Given the description of an element on the screen output the (x, y) to click on. 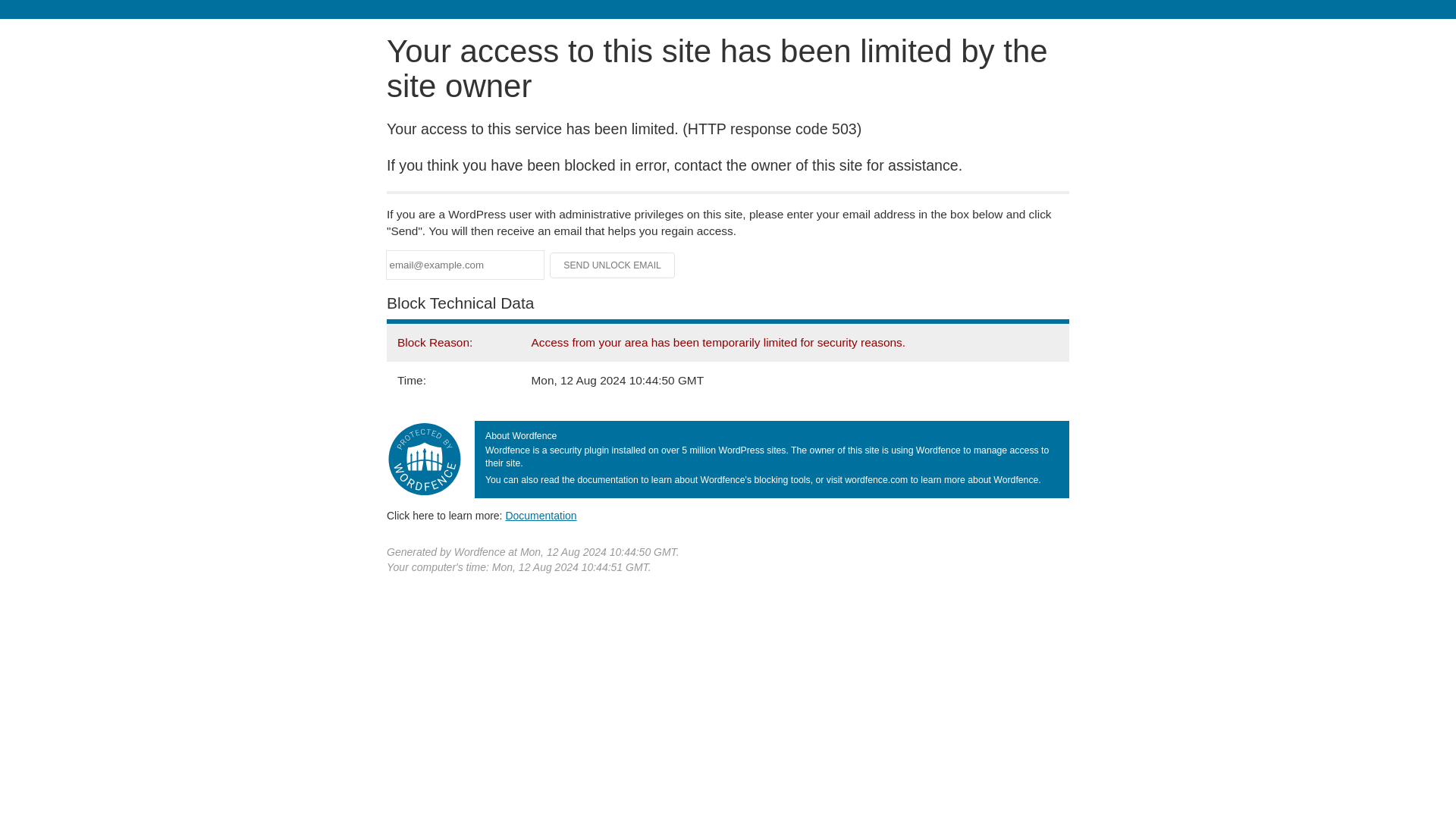
Send Unlock Email (612, 265)
Documentation (540, 515)
Send Unlock Email (612, 265)
